Given the description of an element on the screen output the (x, y) to click on. 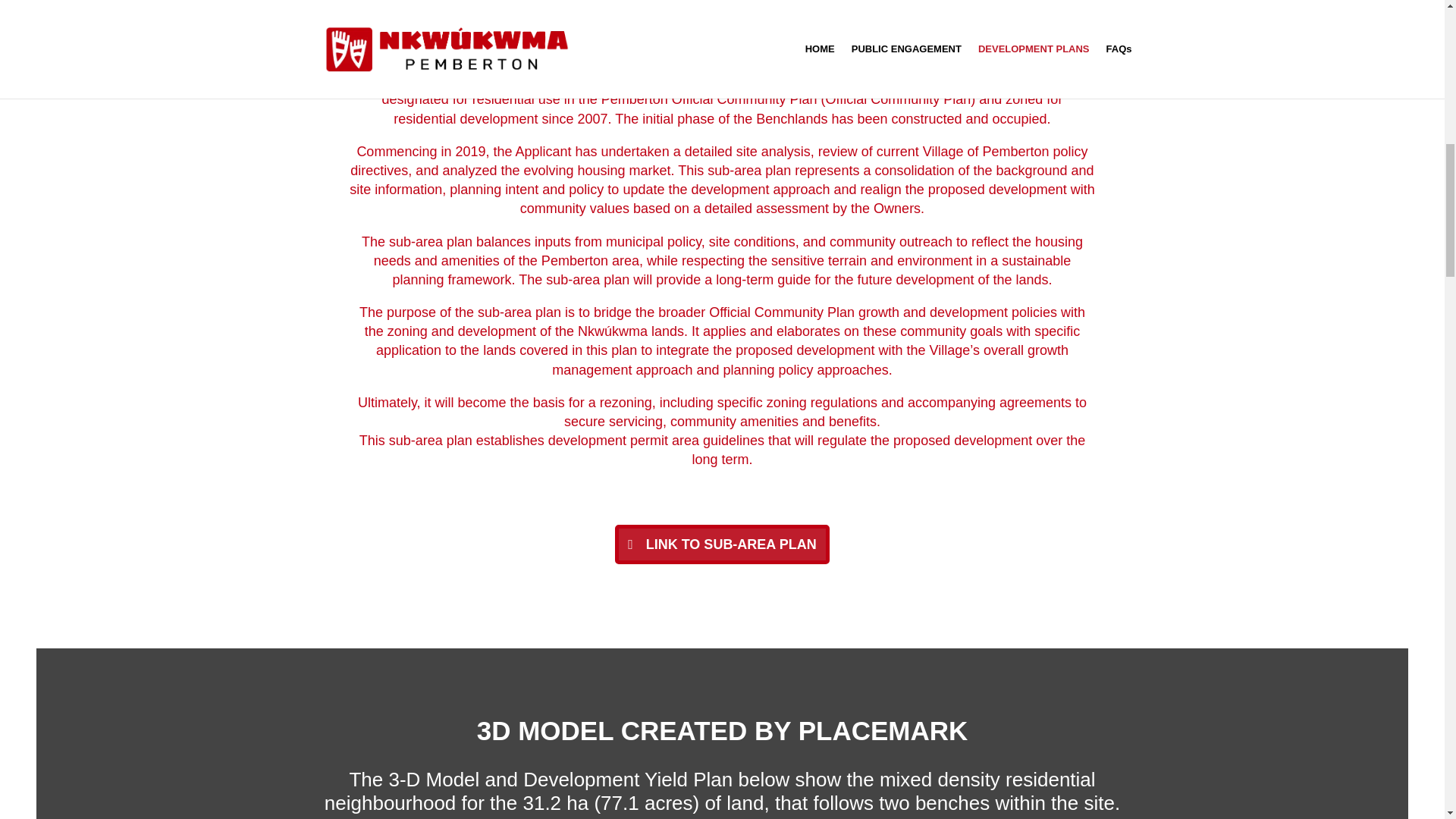
LINK TO SUB-AREA PLAN (721, 543)
